Given the description of an element on the screen output the (x, y) to click on. 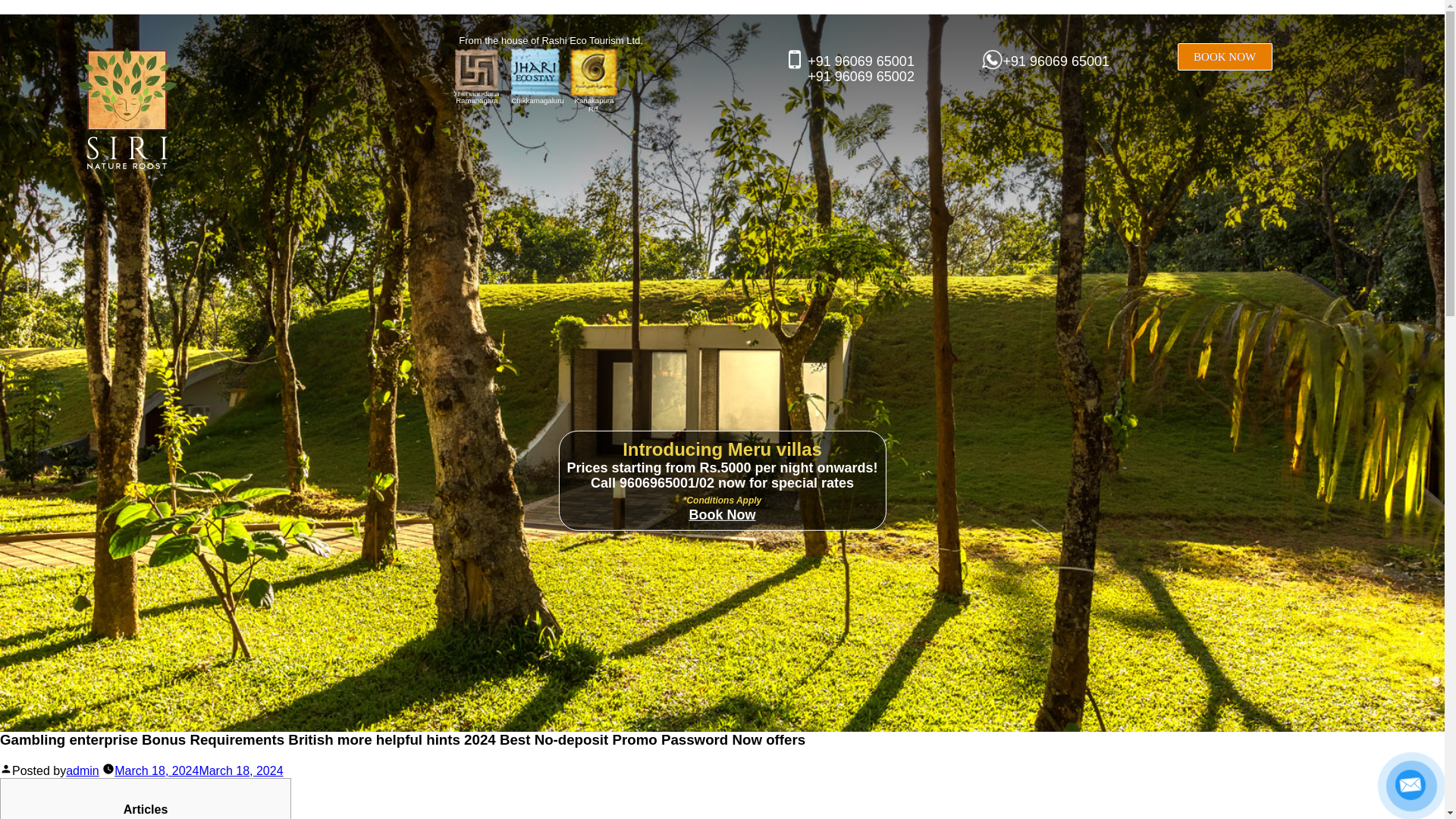
March 18, 2024March 18, 2024 (198, 770)
BOOK NOW (1224, 56)
Book Now (721, 513)
admin (82, 770)
